Given the description of an element on the screen output the (x, y) to click on. 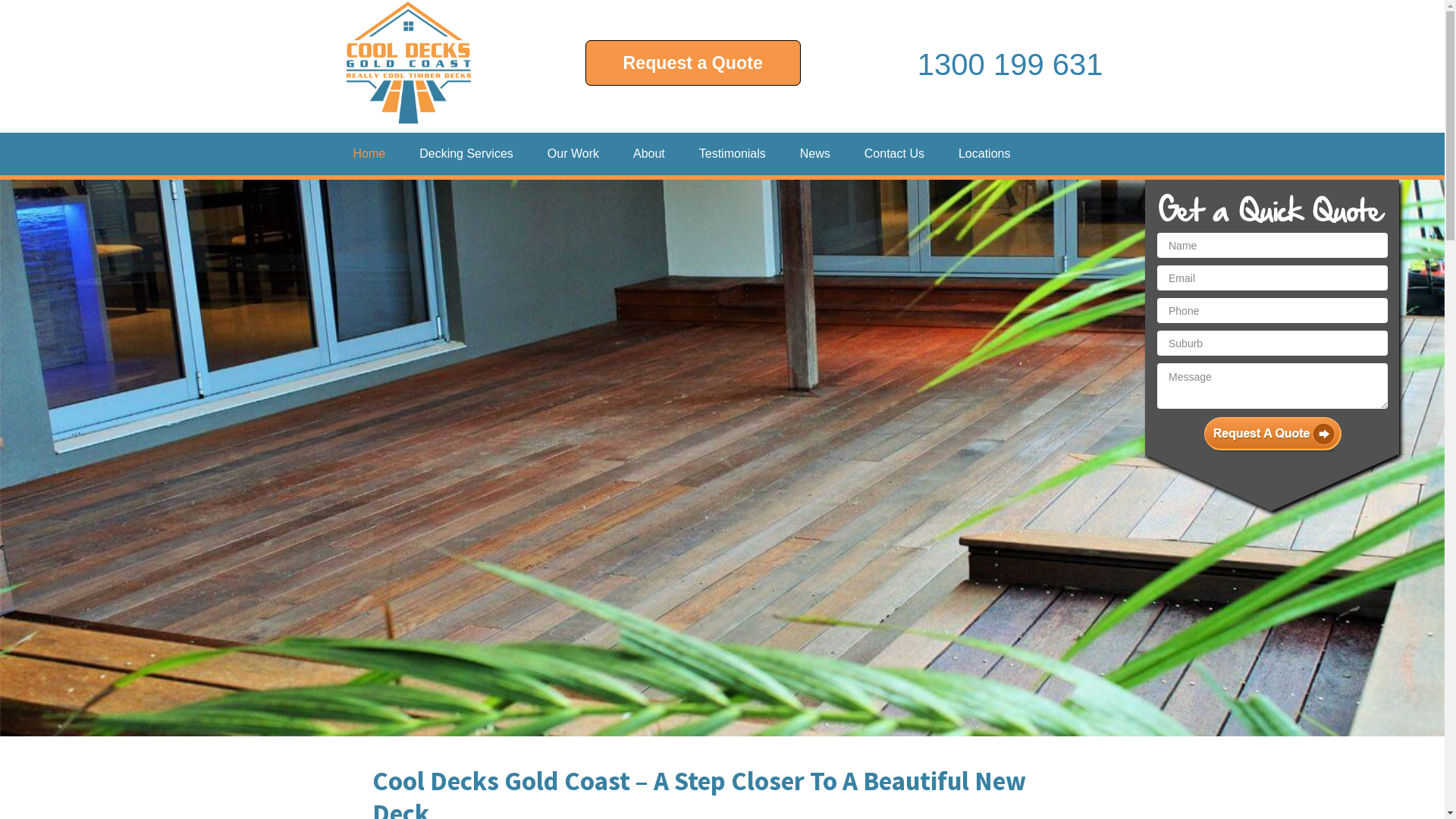
Send Me My Quote Element type: text (1271, 434)
Request a Quote Element type: text (692, 63)
Testimonials Element type: text (732, 153)
Locations Element type: text (984, 153)
1300 199 631 Element type: text (1010, 64)
Contact Us Element type: text (894, 153)
Decking Services Element type: text (465, 153)
About Element type: text (648, 153)
Home Element type: text (368, 153)
Cool Decks Gold Coast Element type: text (407, 66)
News Element type: text (814, 153)
Our Work Element type: text (573, 153)
